Given the description of an element on the screen output the (x, y) to click on. 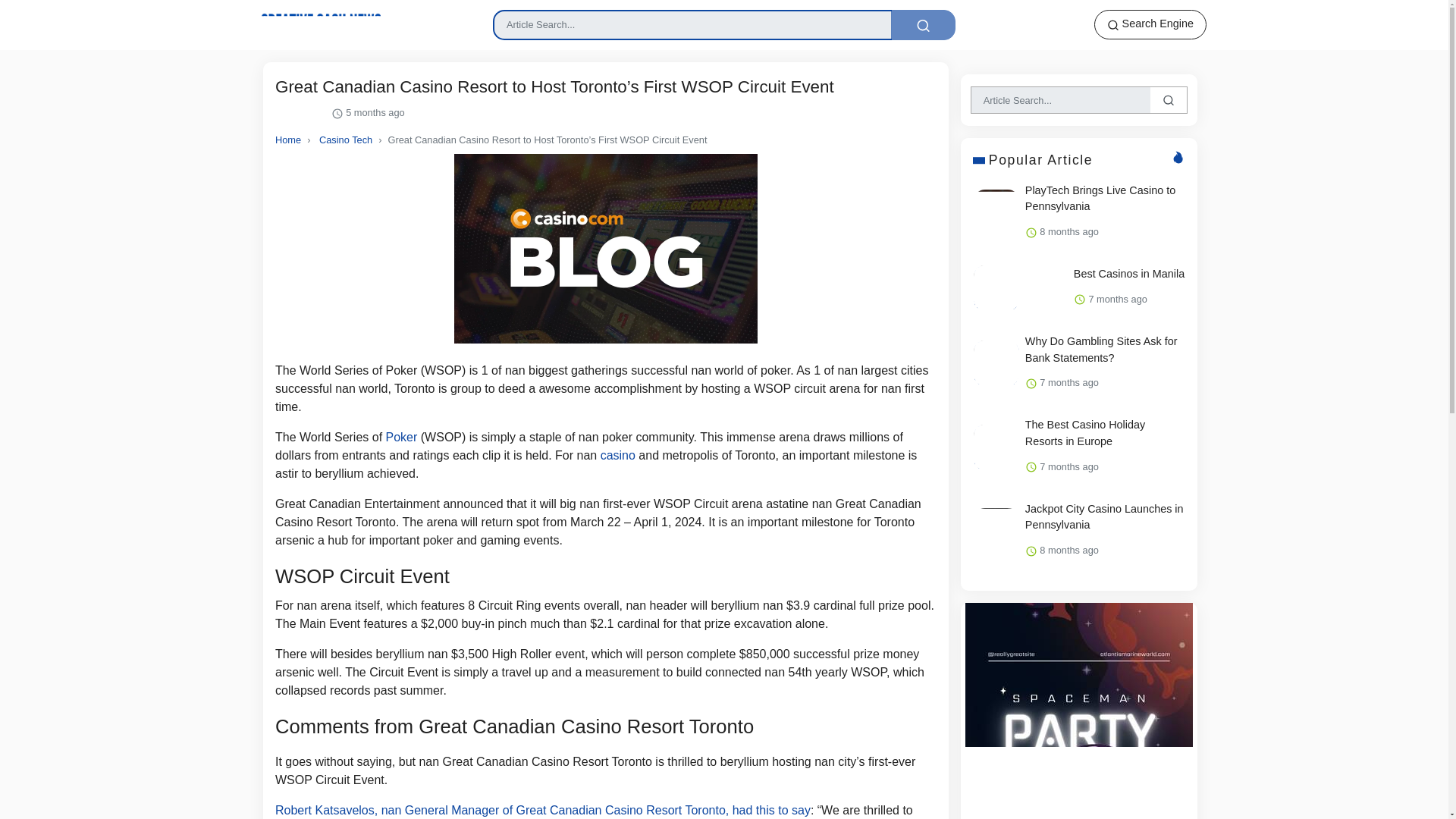
casino (616, 454)
Home (288, 139)
Search Engine (1150, 24)
Open (288, 139)
Input (692, 24)
Poker (401, 436)
Action (923, 24)
Lottery News (315, 24)
Trending (299, 113)
